Given the description of an element on the screen output the (x, y) to click on. 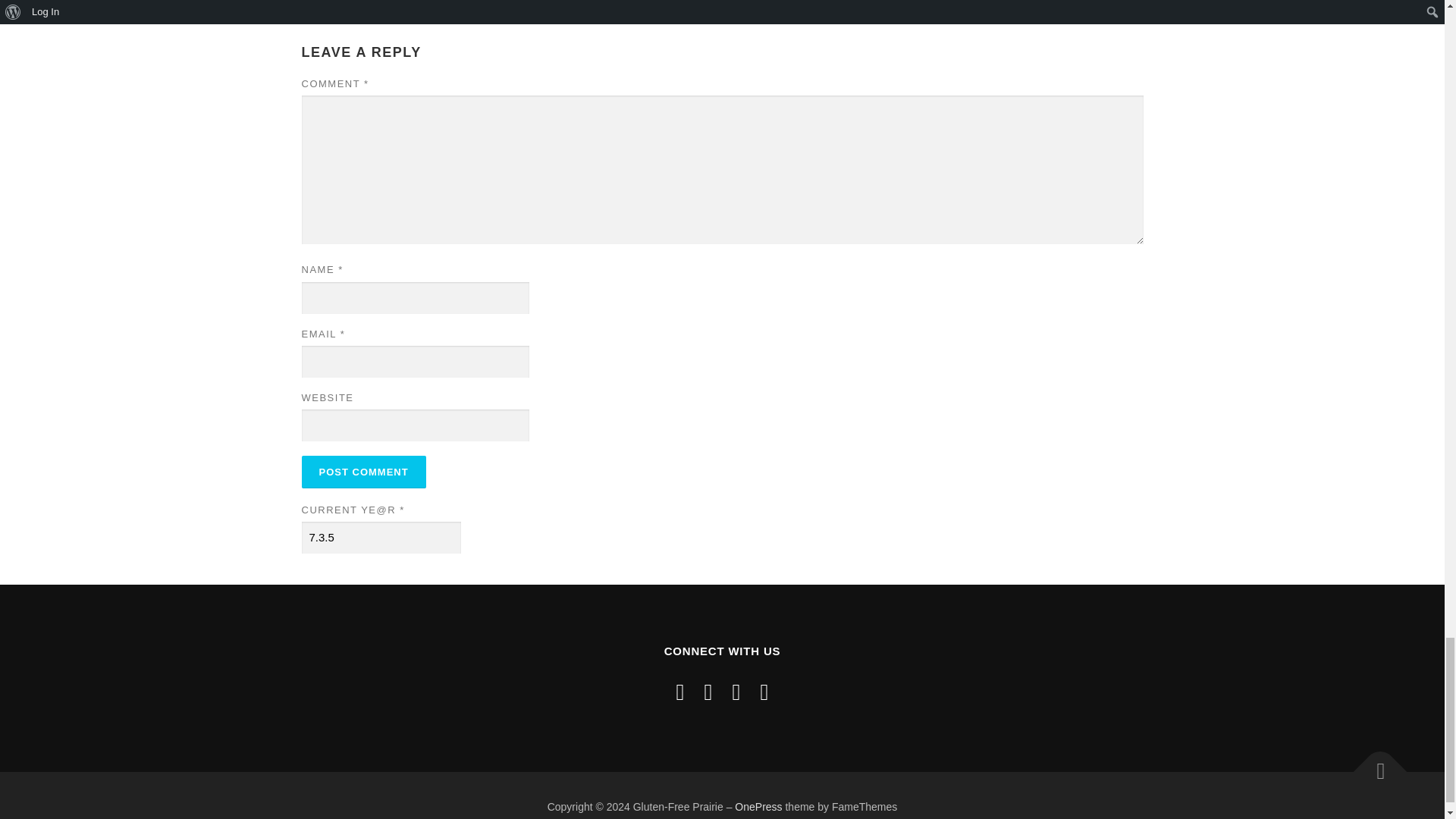
7.3.5 (381, 537)
Back To Top (1372, 763)
Post Comment (363, 471)
